Given the description of an element on the screen output the (x, y) to click on. 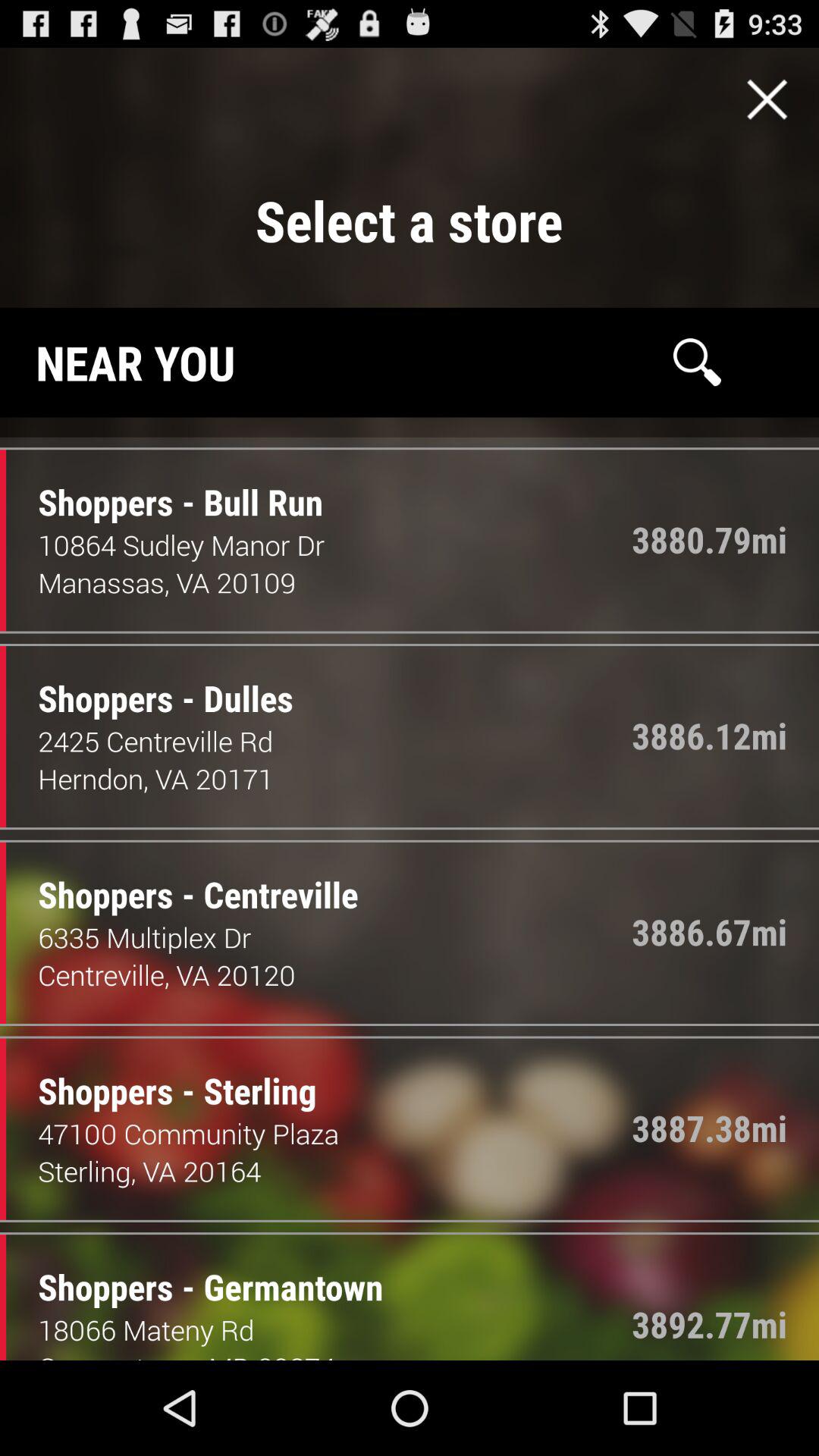
click item below the shoppers - sterling  item (334, 1133)
